Given the description of an element on the screen output the (x, y) to click on. 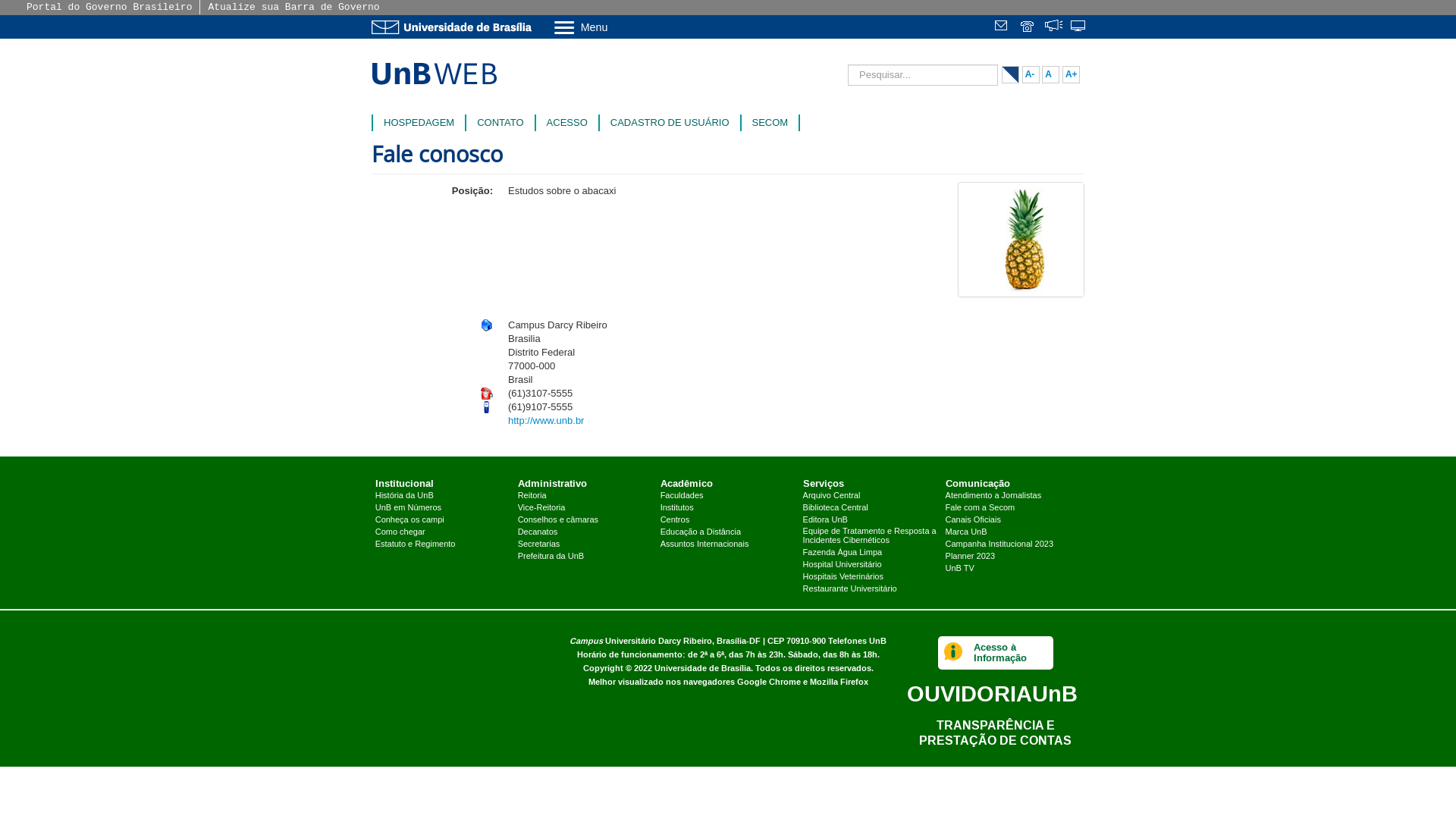
Prefeitura da UnB Element type: text (550, 555)
Institutos Element type: text (676, 506)
Atualize sua Barra de Governo Element type: text (293, 6)
HOSPEDAGEM Element type: text (418, 122)
Fale com a Secom Element type: text (980, 506)
Arquivo Central Element type: text (831, 494)
A Element type: text (1050, 74)
ACESSO Element type: text (567, 122)
Atendimento a Jornalistas Element type: text (993, 494)
Menu Element type: text (619, 26)
Secretarias Element type: text (538, 543)
Como chegar Element type: text (400, 531)
Faculdades Element type: text (681, 494)
Planner 2023 Element type: text (969, 555)
Campanha Institucional 2023 Element type: text (999, 543)
Fala.BR Element type: hover (1053, 26)
  Element type: text (1002, 26)
  Element type: text (1079, 26)
  Element type: text (1028, 26)
Marca UnB Element type: text (966, 531)
Reitoria Element type: text (531, 494)
Decanatos Element type: text (537, 531)
Biblioteca Central Element type: text (835, 506)
OUVIDORIAUnB Element type: text (991, 693)
  Element type: text (1053, 26)
http://www.unb.br Element type: text (545, 420)
CONTATO Element type: text (499, 122)
Sistemas Element type: hover (1079, 26)
Editora UnB Element type: text (825, 519)
Telefones da UnB Element type: hover (1028, 26)
Ir para o Portal da UnB Element type: hover (454, 26)
A+ Element type: text (1070, 74)
Centros Element type: text (675, 519)
A- Element type: text (1030, 74)
Vice-Reitoria Element type: text (541, 506)
Telefones UnB Element type: text (857, 640)
Estatuto e Regimento Element type: text (415, 543)
Canais Oficiais Element type: text (973, 519)
UnB TV Element type: text (959, 567)
SECOM Element type: text (770, 122)
Portal do Governo Brasileiro Element type: text (108, 6)
Webmail Element type: hover (1002, 26)
Assuntos Internacionais Element type: text (704, 543)
